Given the description of an element on the screen output the (x, y) to click on. 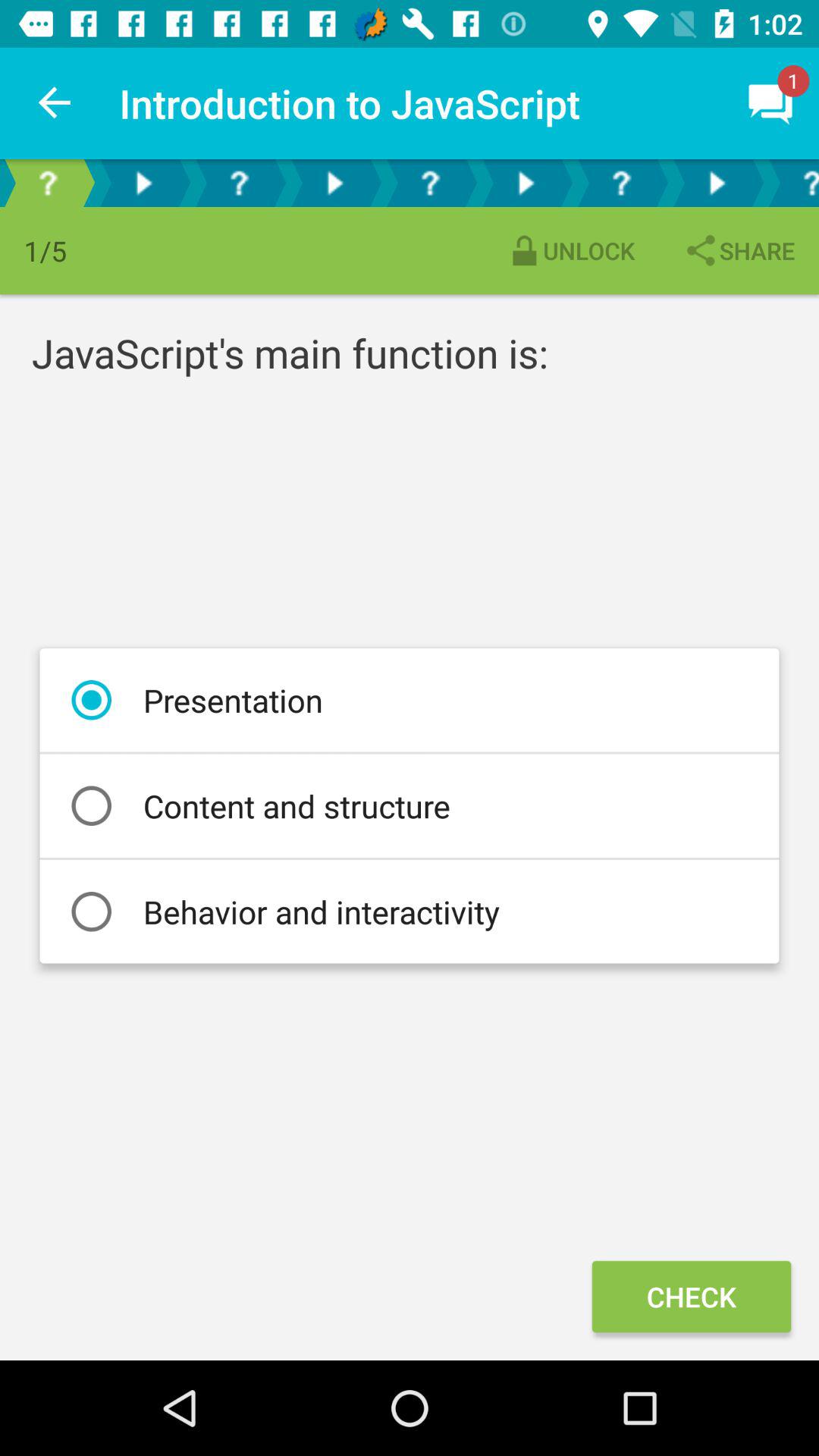
press the share (738, 250)
